Given the description of an element on the screen output the (x, y) to click on. 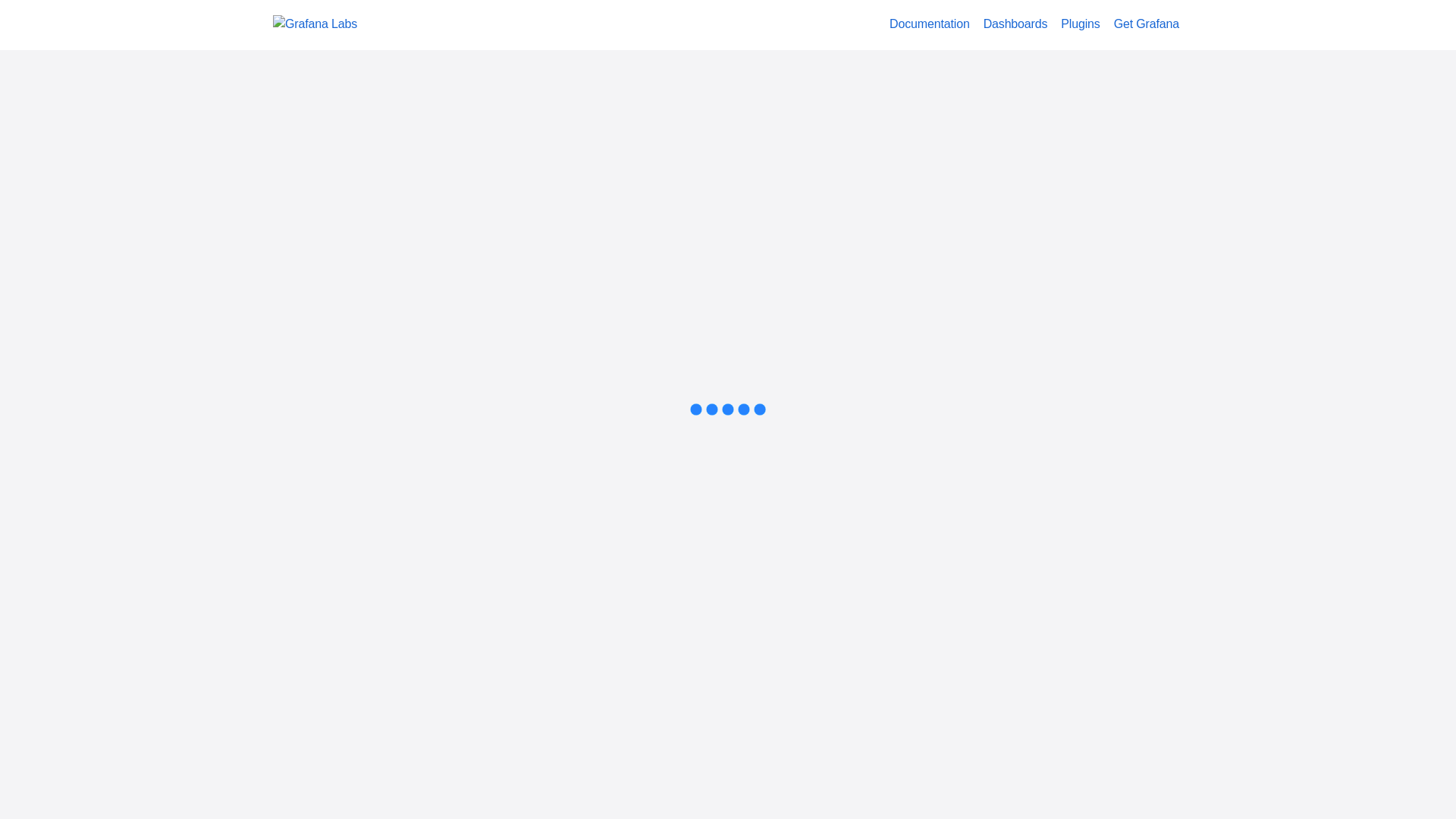
Get Grafana (1146, 24)
Documentation (929, 24)
Plugins (1080, 24)
Dashboards (1016, 24)
